Given the description of an element on the screen output the (x, y) to click on. 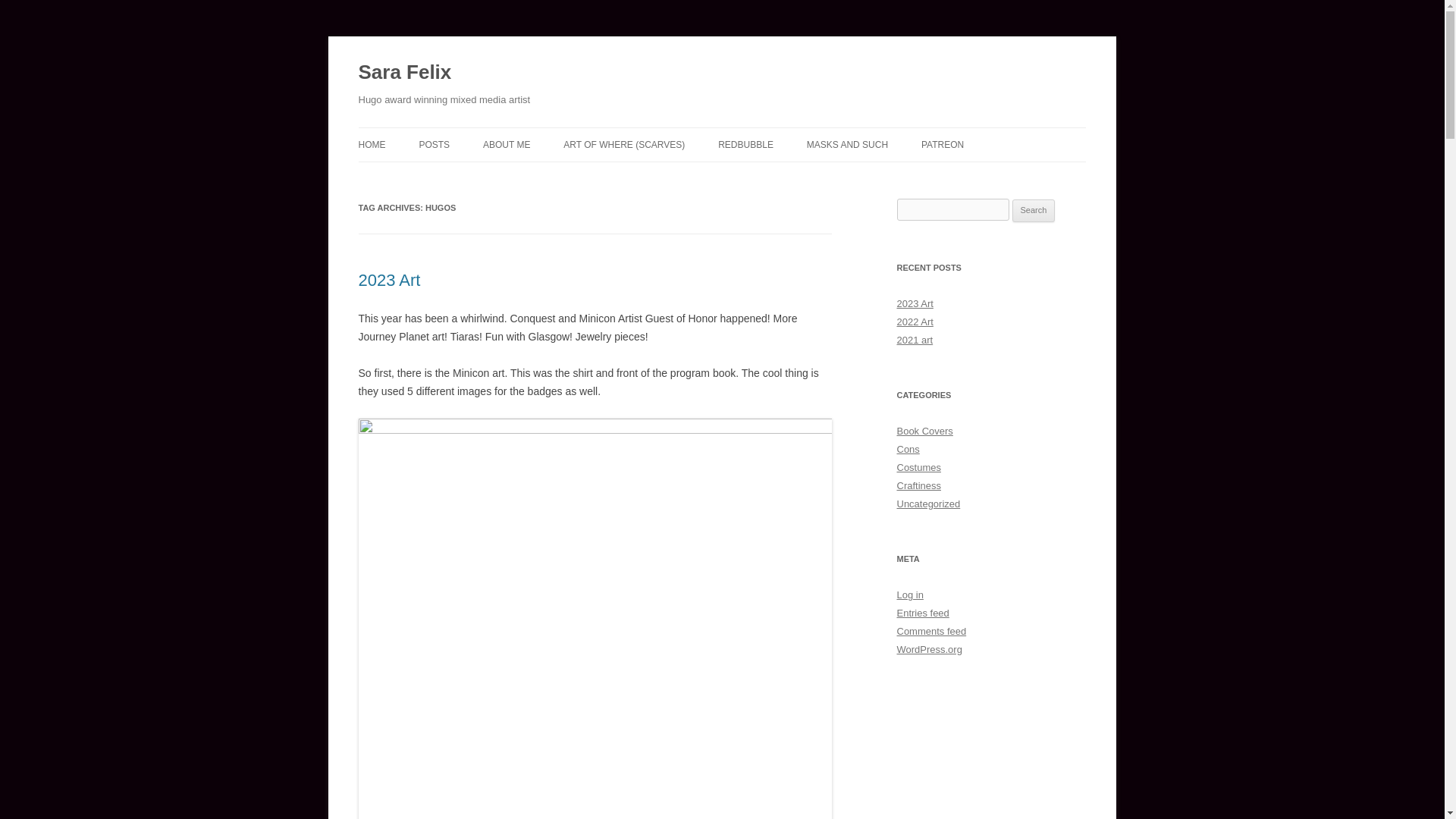
2023 Art (389, 280)
PATREON (942, 144)
Sara Felix (404, 72)
Sara Felix (404, 72)
REDBUBBLE (745, 144)
POSTS (434, 144)
ABOUT ME (506, 144)
MASKS AND SUCH (847, 144)
Search (1033, 210)
